Given the description of an element on the screen output the (x, y) to click on. 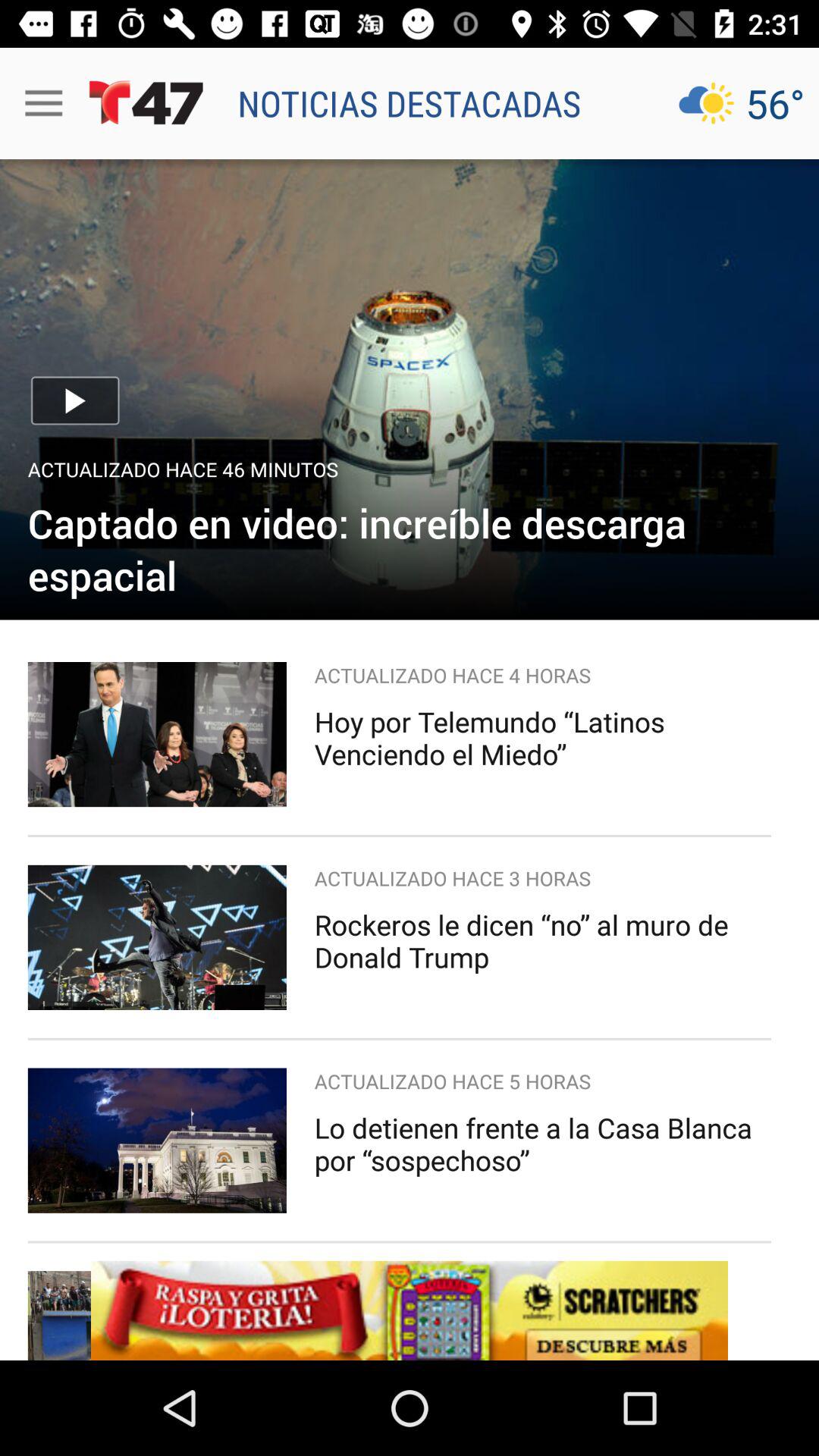
select the image which is to the left side of the noticias destacadas (146, 103)
choose the second image under video (156, 937)
